Given the description of an element on the screen output the (x, y) to click on. 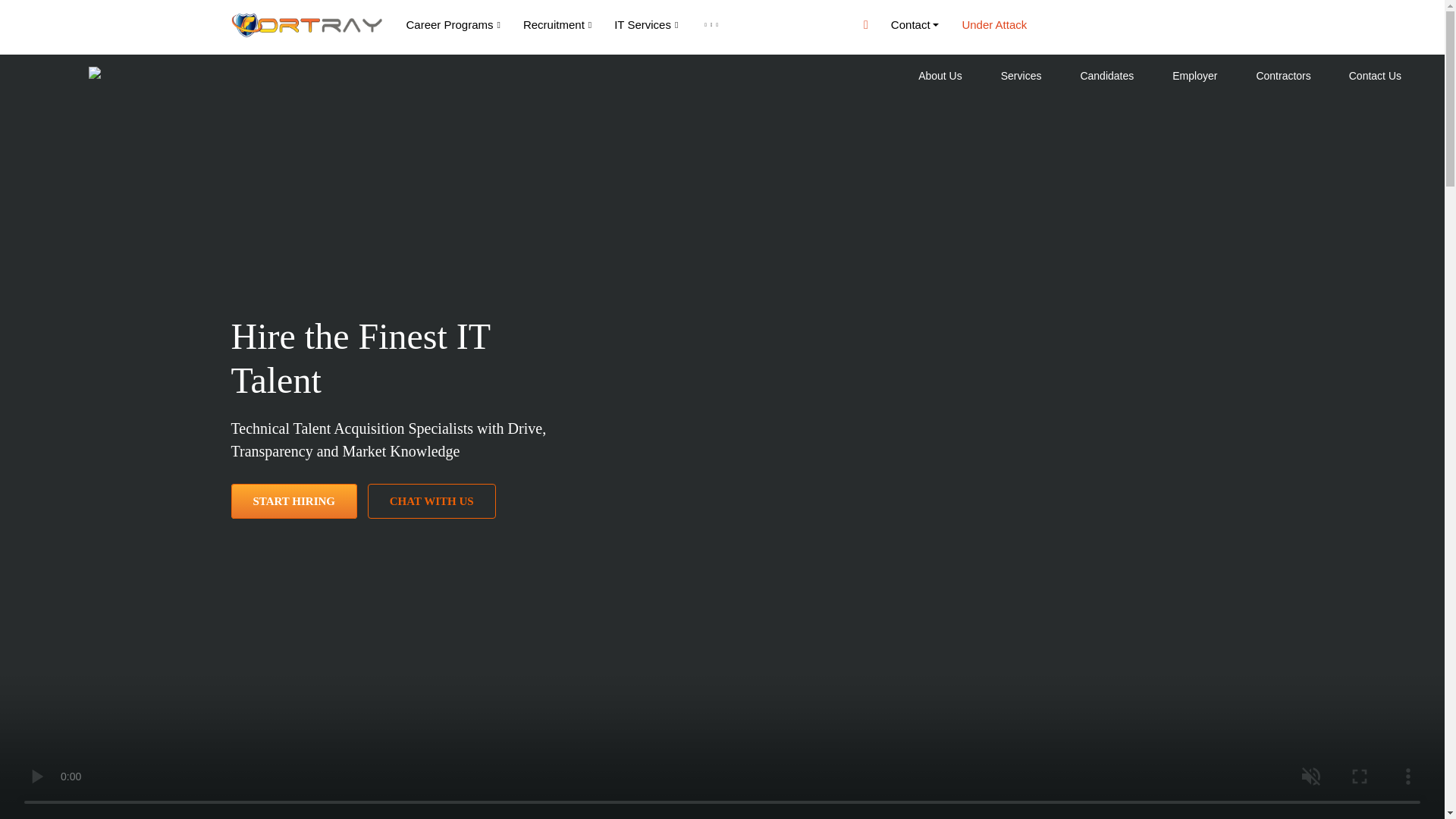
Career Programs (452, 25)
Career Programs (452, 25)
Recruitment (557, 25)
IT Services (645, 25)
